Given the description of an element on the screen output the (x, y) to click on. 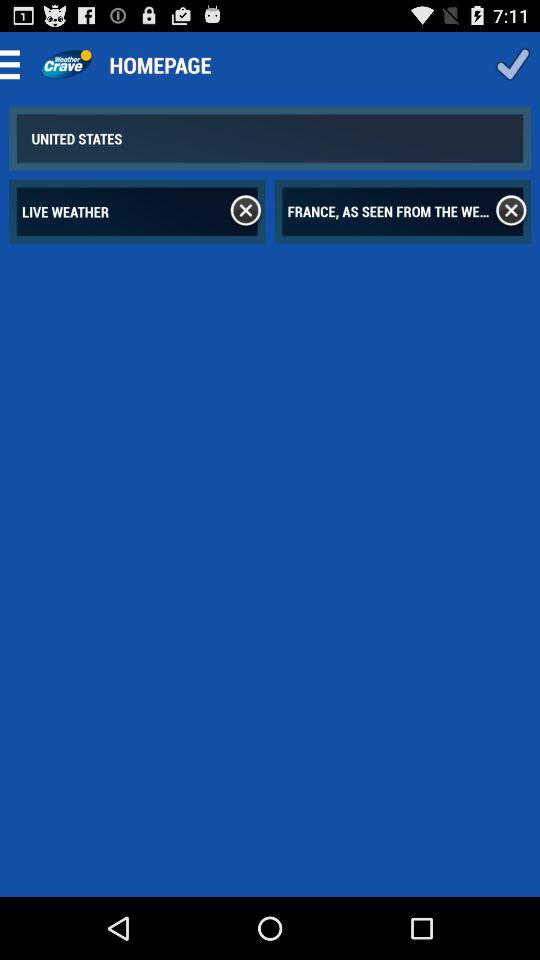
tap the app above united states item (65, 64)
